Given the description of an element on the screen output the (x, y) to click on. 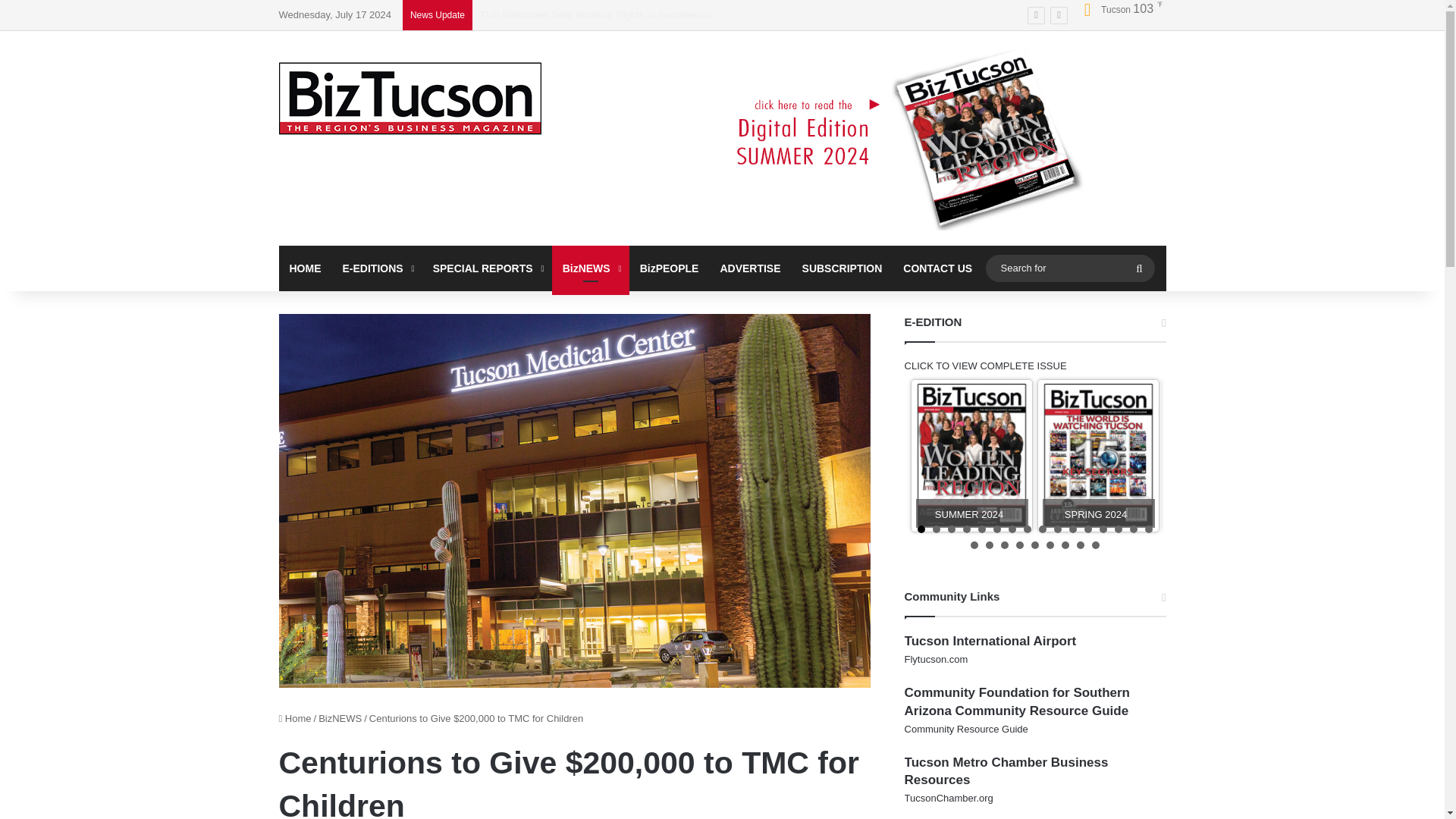
Search for (1069, 267)
HOME (305, 268)
TUS Welcomes Daily Nonstop Flights to Sacramento (595, 14)
Clear Sky (1117, 9)
E-EDITIONS (376, 268)
BizTUCSON (410, 99)
SUMMER 2024 (971, 456)
